Given the description of an element on the screen output the (x, y) to click on. 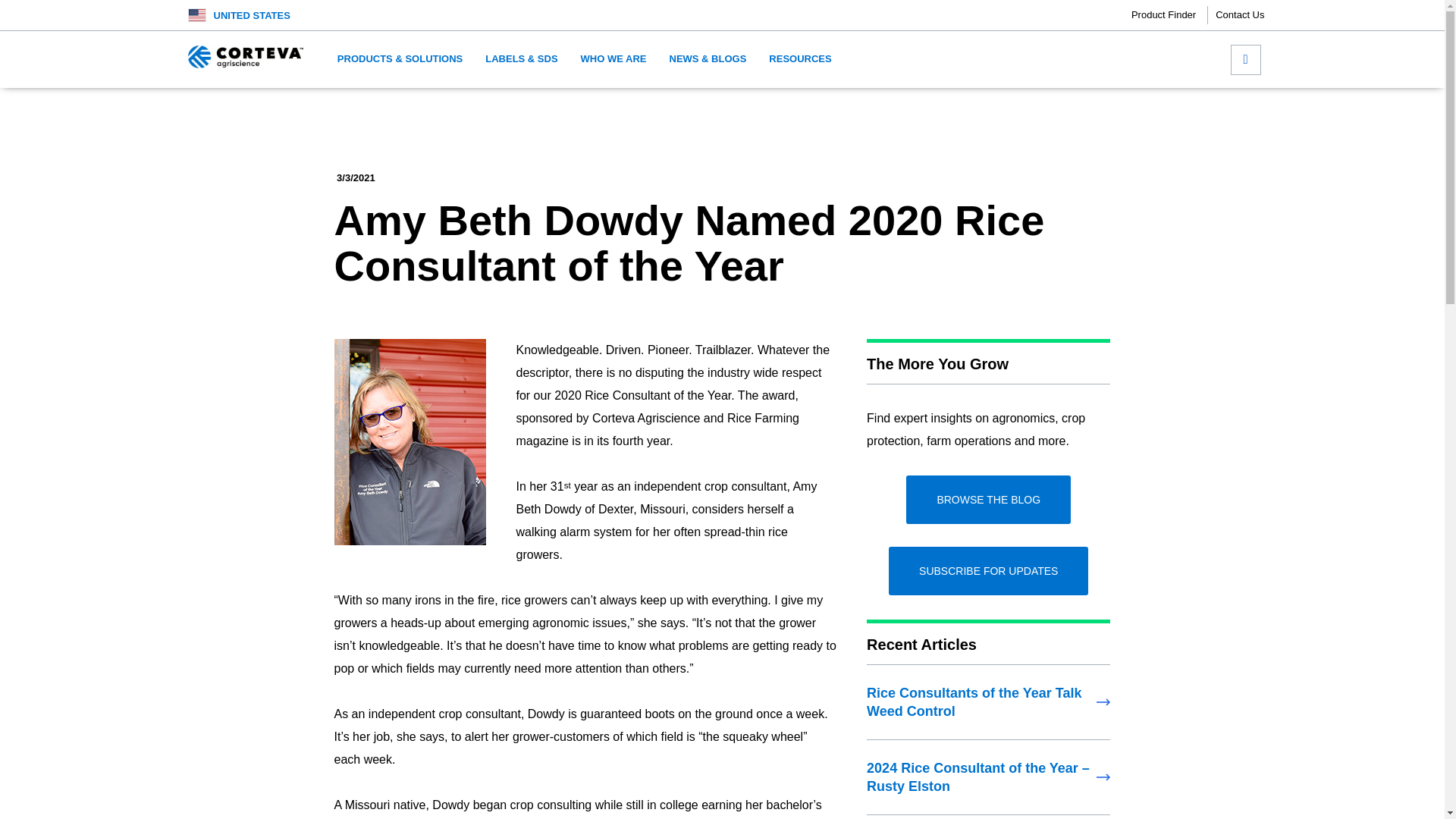
UNITED STATES (251, 15)
Contact Us (1239, 14)
Product Finder (1169, 14)
